Given the description of an element on the screen output the (x, y) to click on. 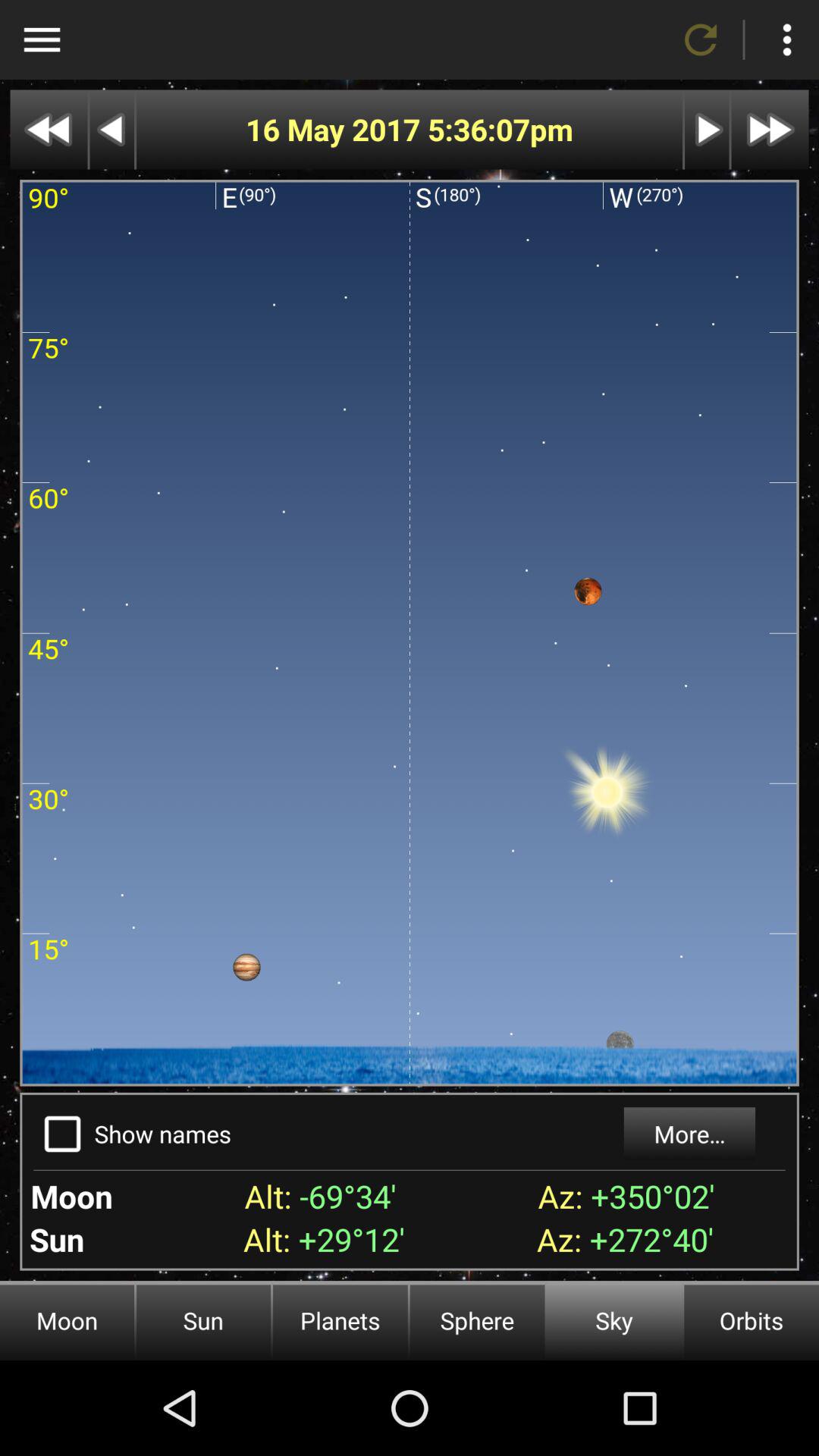
go back in time by one unit (111, 129)
